Given the description of an element on the screen output the (x, y) to click on. 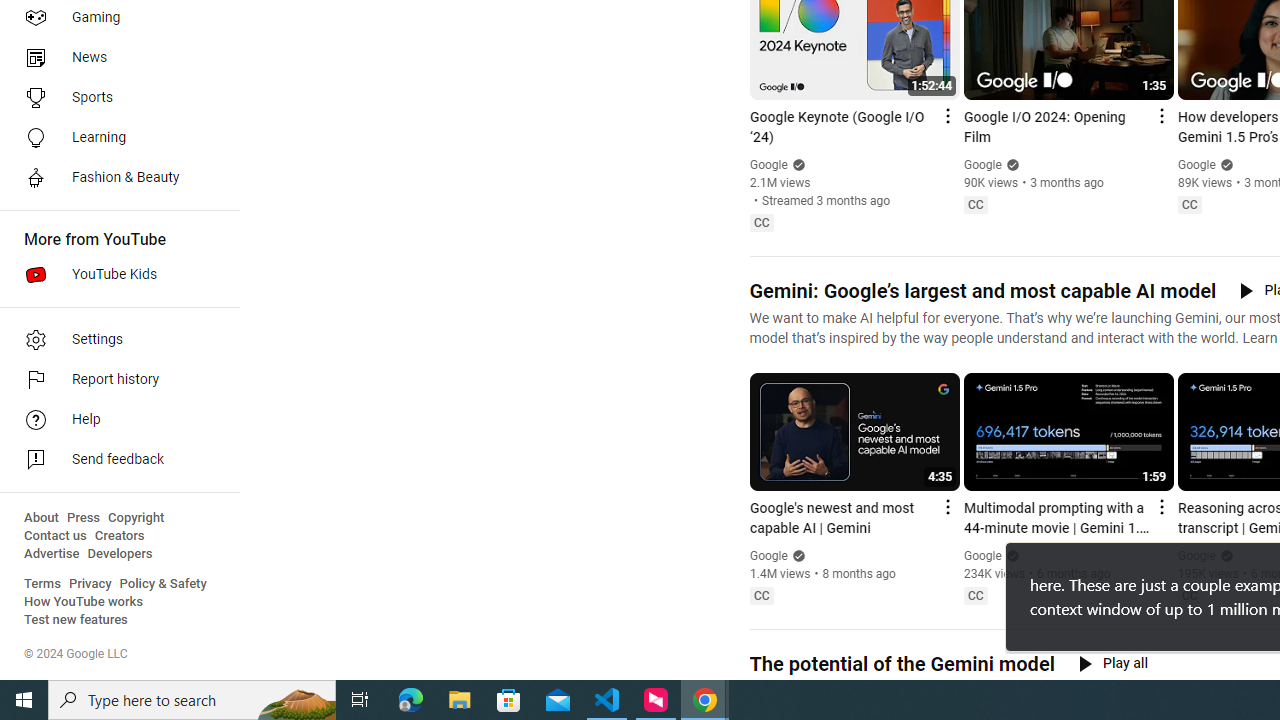
Terms (42, 584)
Action menu (1160, 506)
Policy & Safety (163, 584)
Help (113, 419)
Contact us (55, 536)
Press (83, 518)
Report history (113, 380)
Learning (113, 137)
Advertise (51, 554)
Send feedback (113, 459)
About (41, 518)
Settings (113, 339)
